Given the description of an element on the screen output the (x, y) to click on. 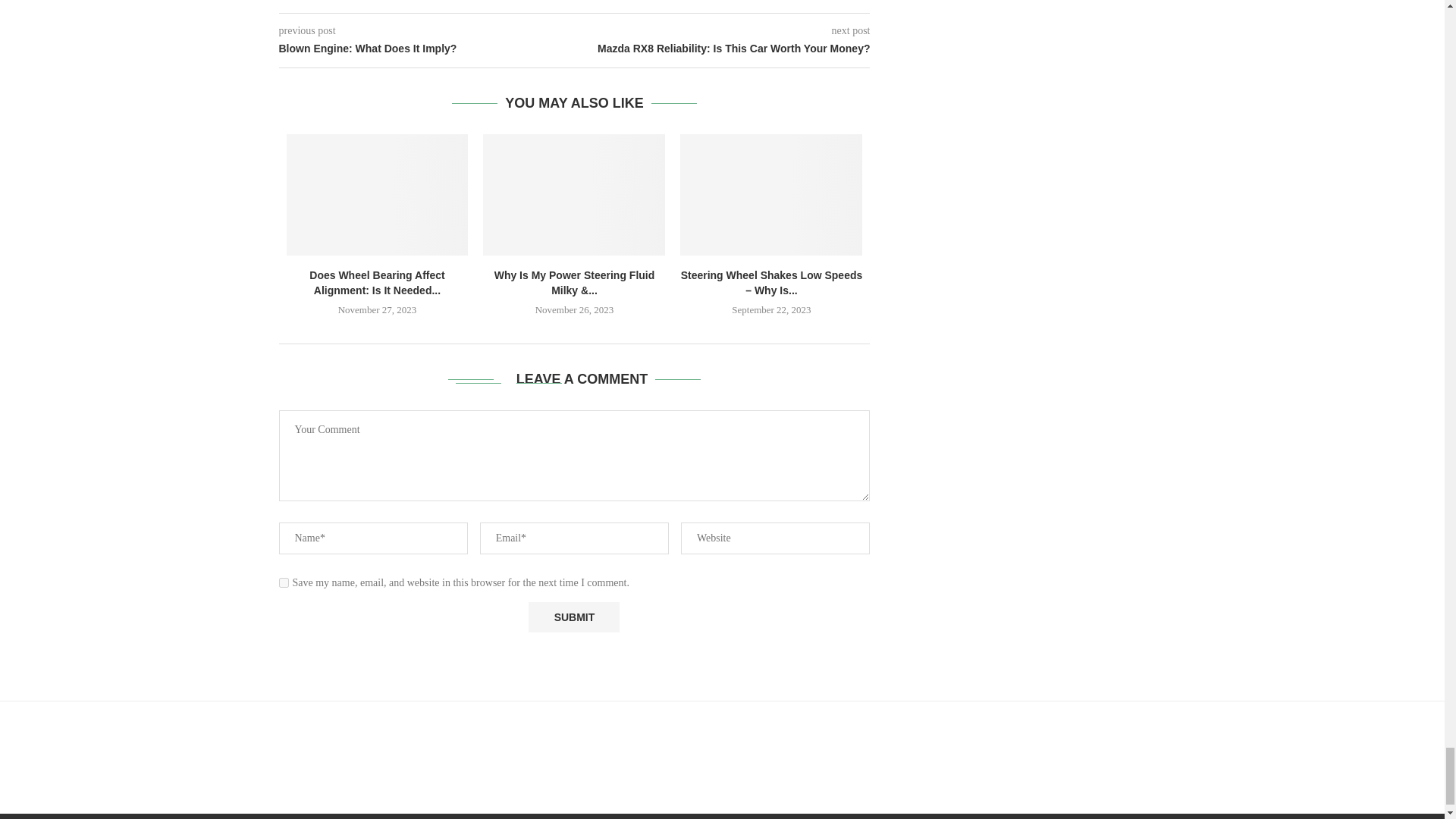
yes (283, 583)
Submit (574, 616)
